Given the description of an element on the screen output the (x, y) to click on. 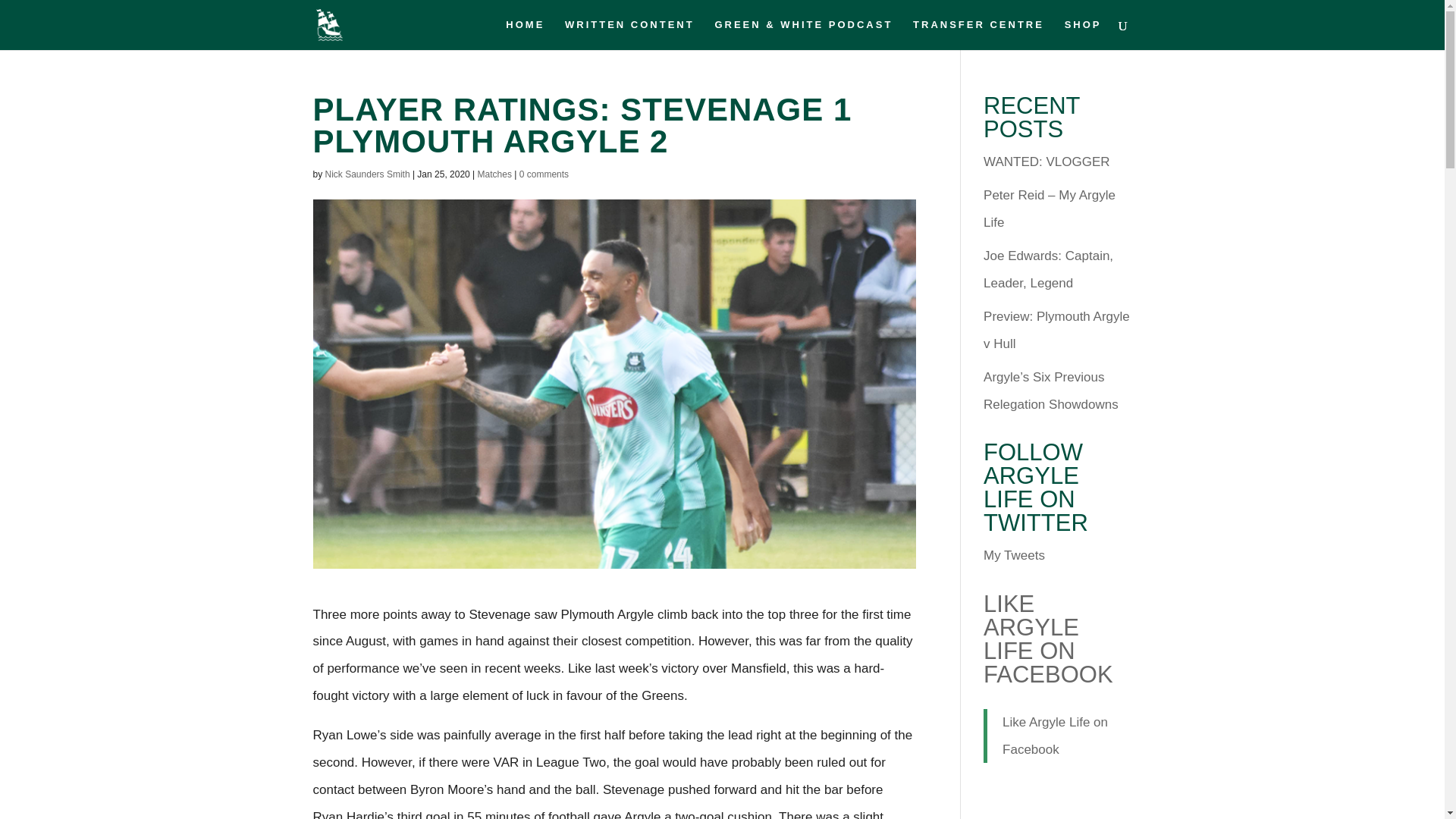
TRANSFER CENTRE (977, 34)
My Tweets (1014, 554)
Nick Saunders Smith (367, 173)
LIKE ARGYLE LIFE ON FACEBOOK (1048, 638)
SHOP (1083, 34)
WRITTEN CONTENT (629, 34)
Joe Edwards: Captain, Leader, Legend (1048, 269)
Matches (494, 173)
Posts by Nick Saunders Smith (367, 173)
Like Argyle Life on Facebook (1055, 735)
Preview: Plymouth Argyle v Hull (1056, 330)
WANTED: VLOGGER (1046, 161)
0 comments (544, 173)
HOME (524, 34)
